Given the description of an element on the screen output the (x, y) to click on. 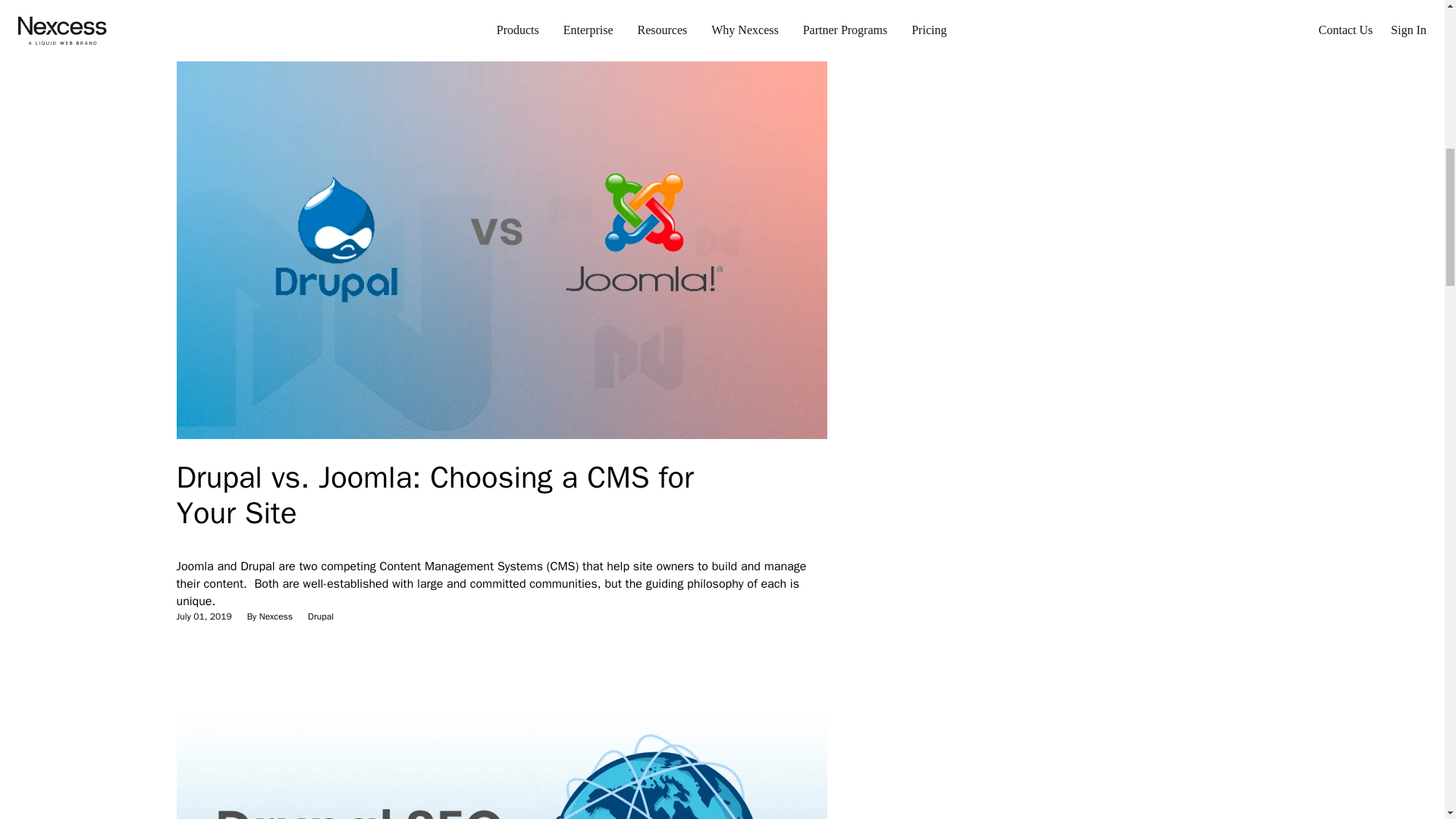
Drupal (320, 616)
Nexcess (275, 2)
Drupal vs. Joomla: Choosing a CMS for Your Site (434, 494)
Nexcess (275, 616)
Drupal (320, 2)
